Given the description of an element on the screen output the (x, y) to click on. 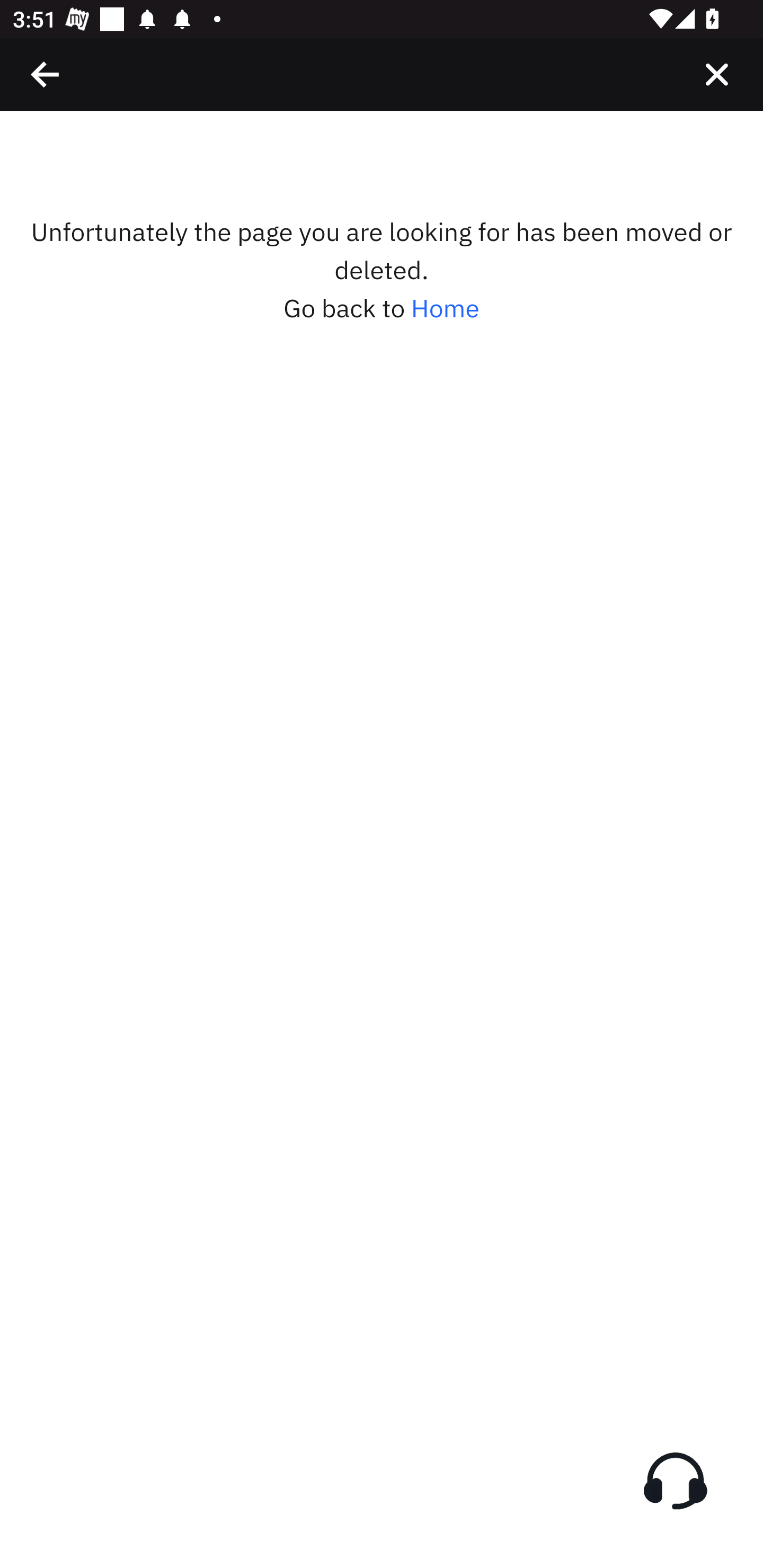
 (46, 74)
 (716, 74)
Home (444, 308)
Nova Your Virtual Assistant! button (674, 1480)
